Given the description of an element on the screen output the (x, y) to click on. 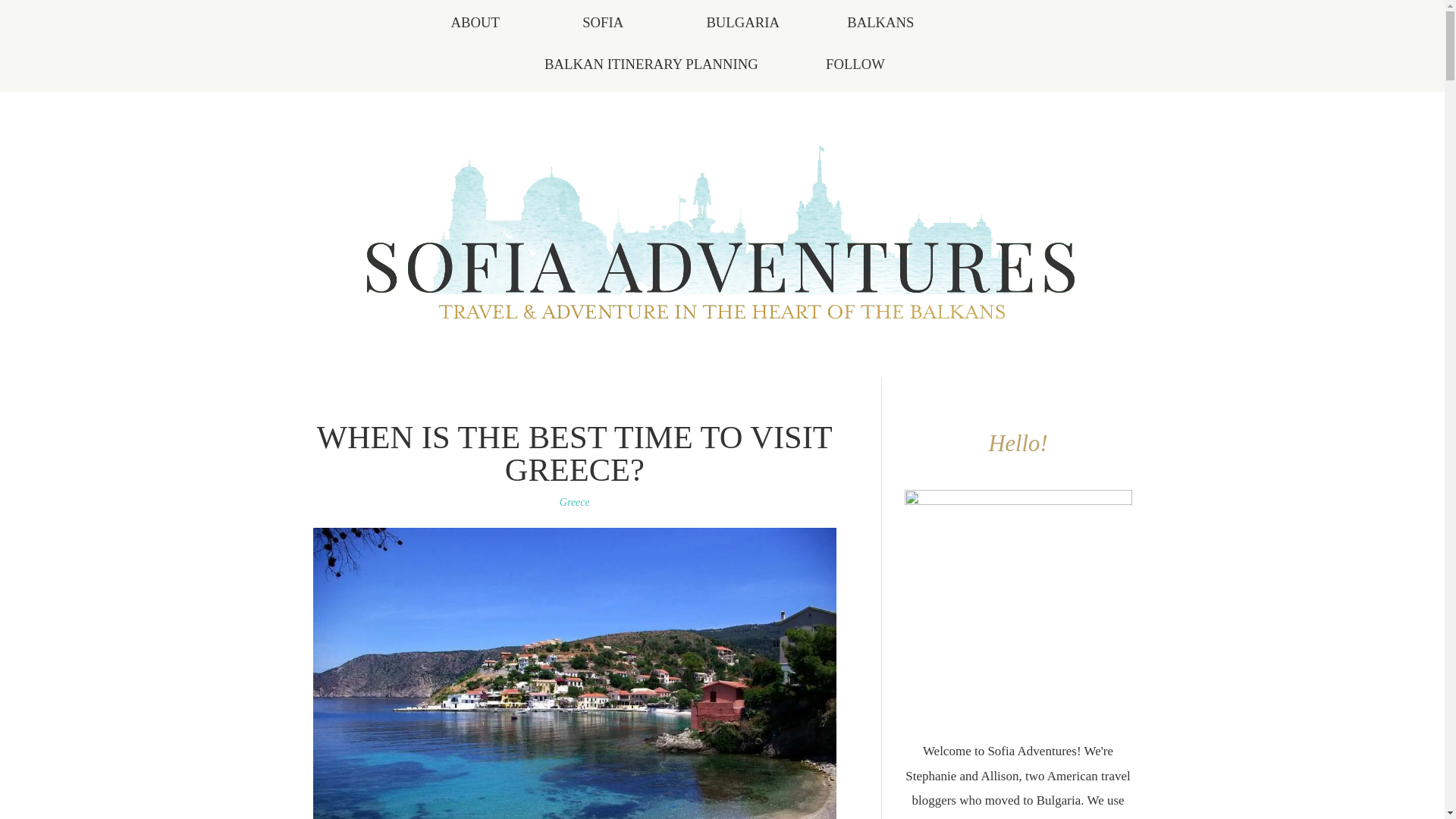
BULGARIA (742, 29)
Greece (574, 501)
BALKAN ITINERARY PLANNING (651, 69)
SOFIA (610, 29)
ABOUT (483, 29)
FOLLOW (862, 69)
BALKANS (887, 29)
